Given the description of an element on the screen output the (x, y) to click on. 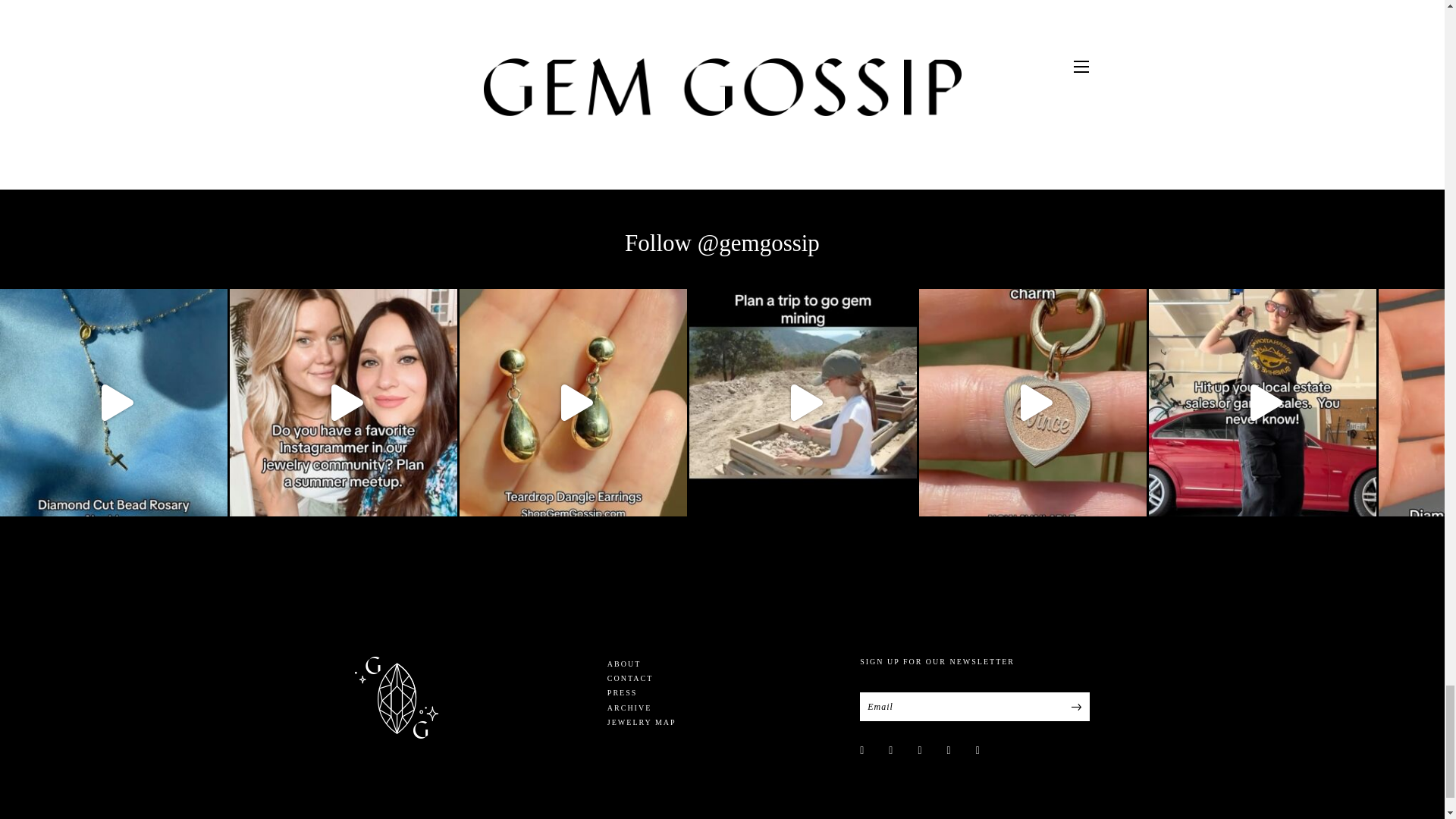
Submit (1075, 706)
